Given the description of an element on the screen output the (x, y) to click on. 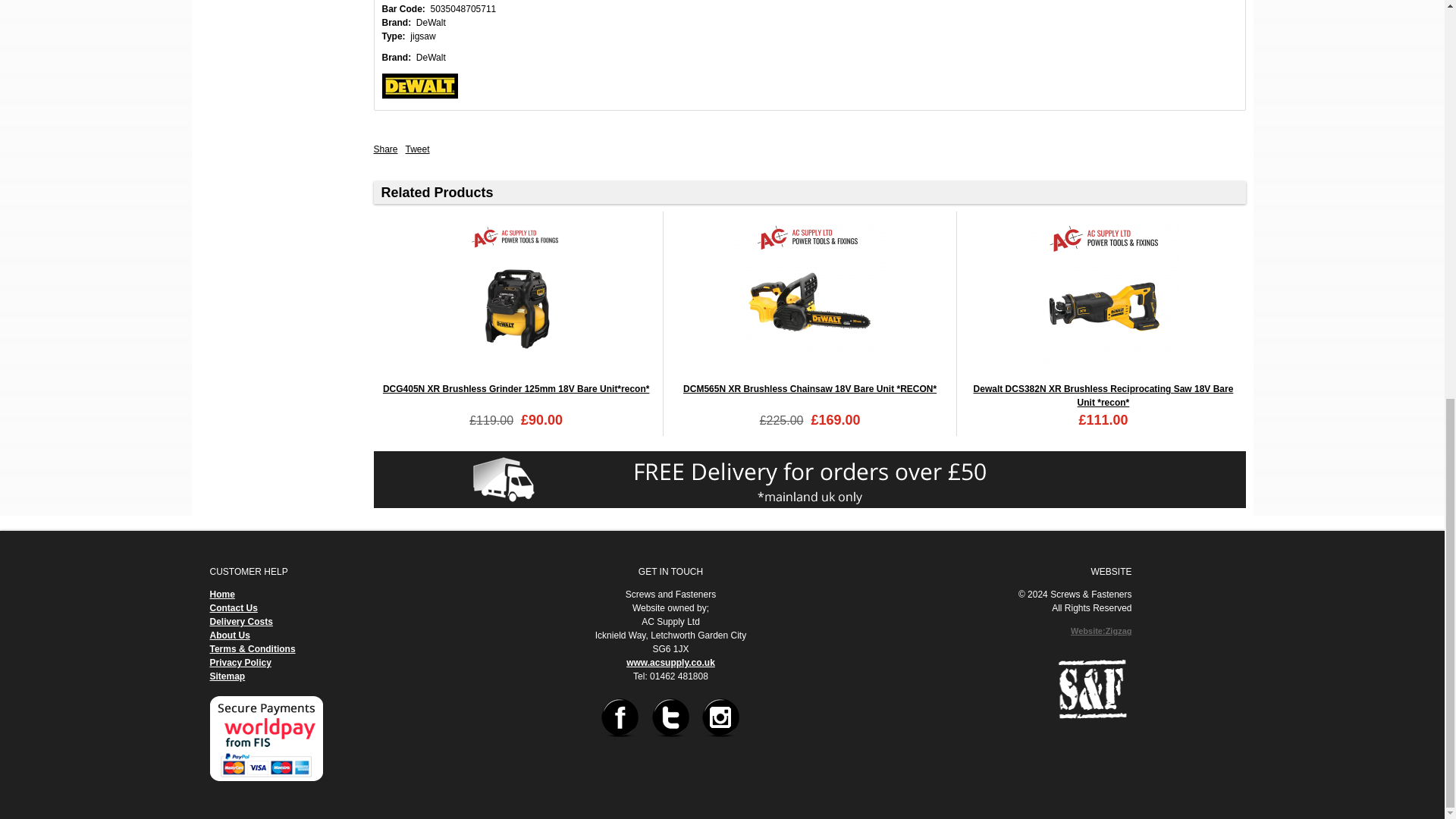
Contact Us (233, 607)
Website by Zigzag Web Design (1100, 630)
Home (221, 593)
Tweet (417, 149)
Share (384, 149)
